Given the description of an element on the screen output the (x, y) to click on. 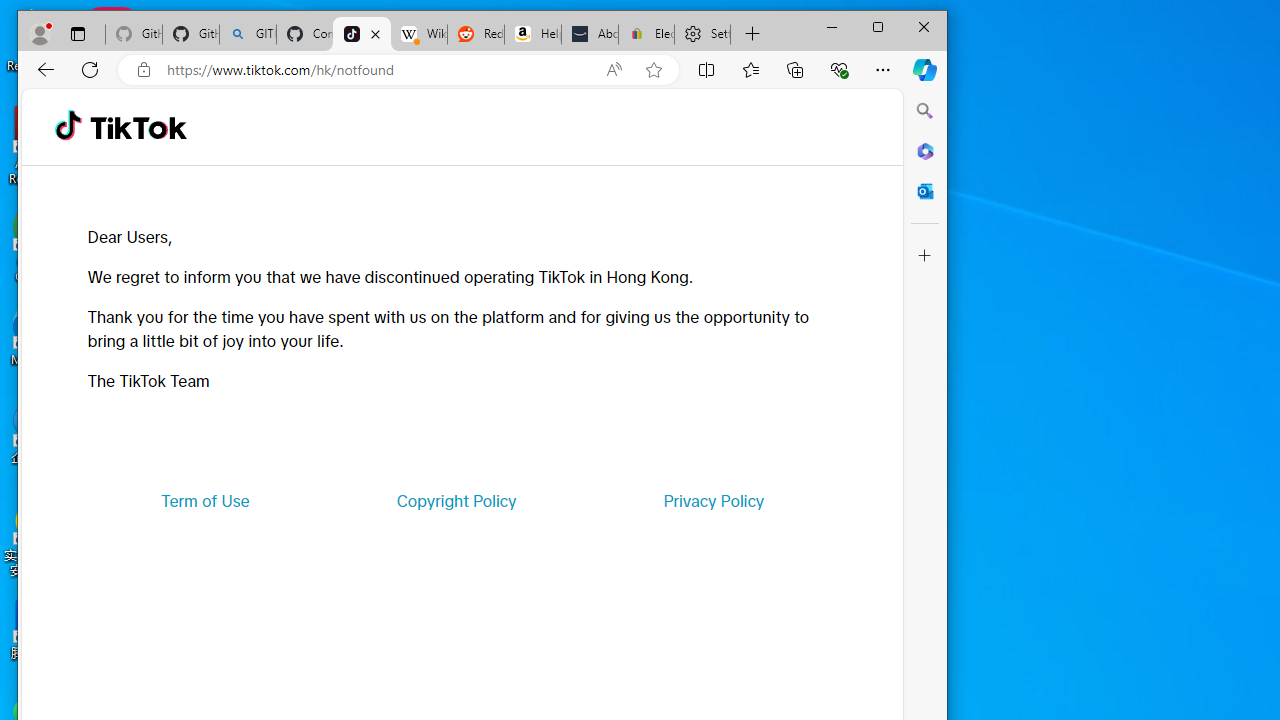
Term of Use (205, 500)
Wikipedia, the free encyclopedia (418, 34)
Copyright Policy (456, 500)
